Given the description of an element on the screen output the (x, y) to click on. 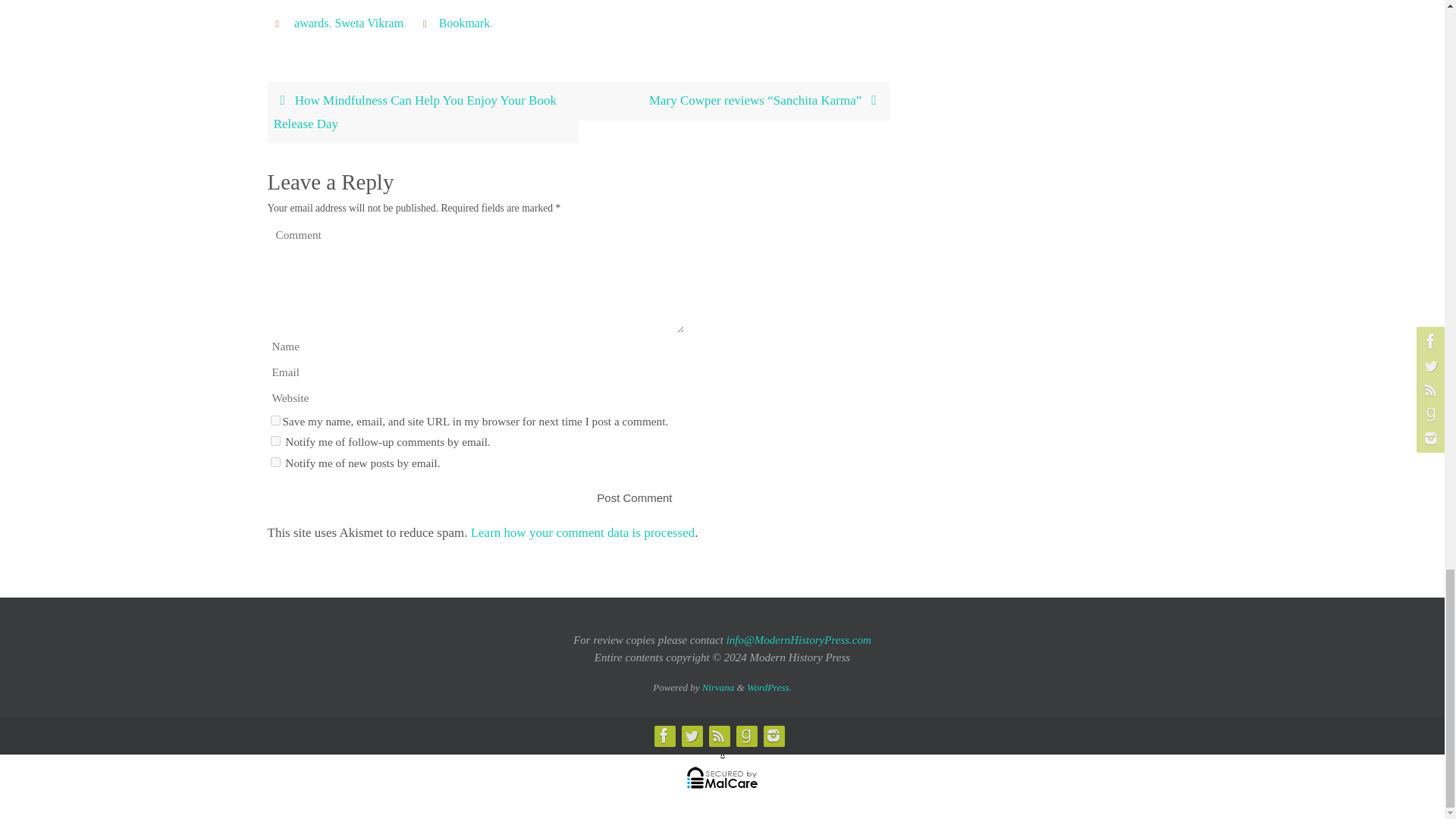
yes (274, 420)
subscribe (274, 440)
Post Comment (634, 497)
subscribe (274, 461)
